Given the description of an element on the screen output the (x, y) to click on. 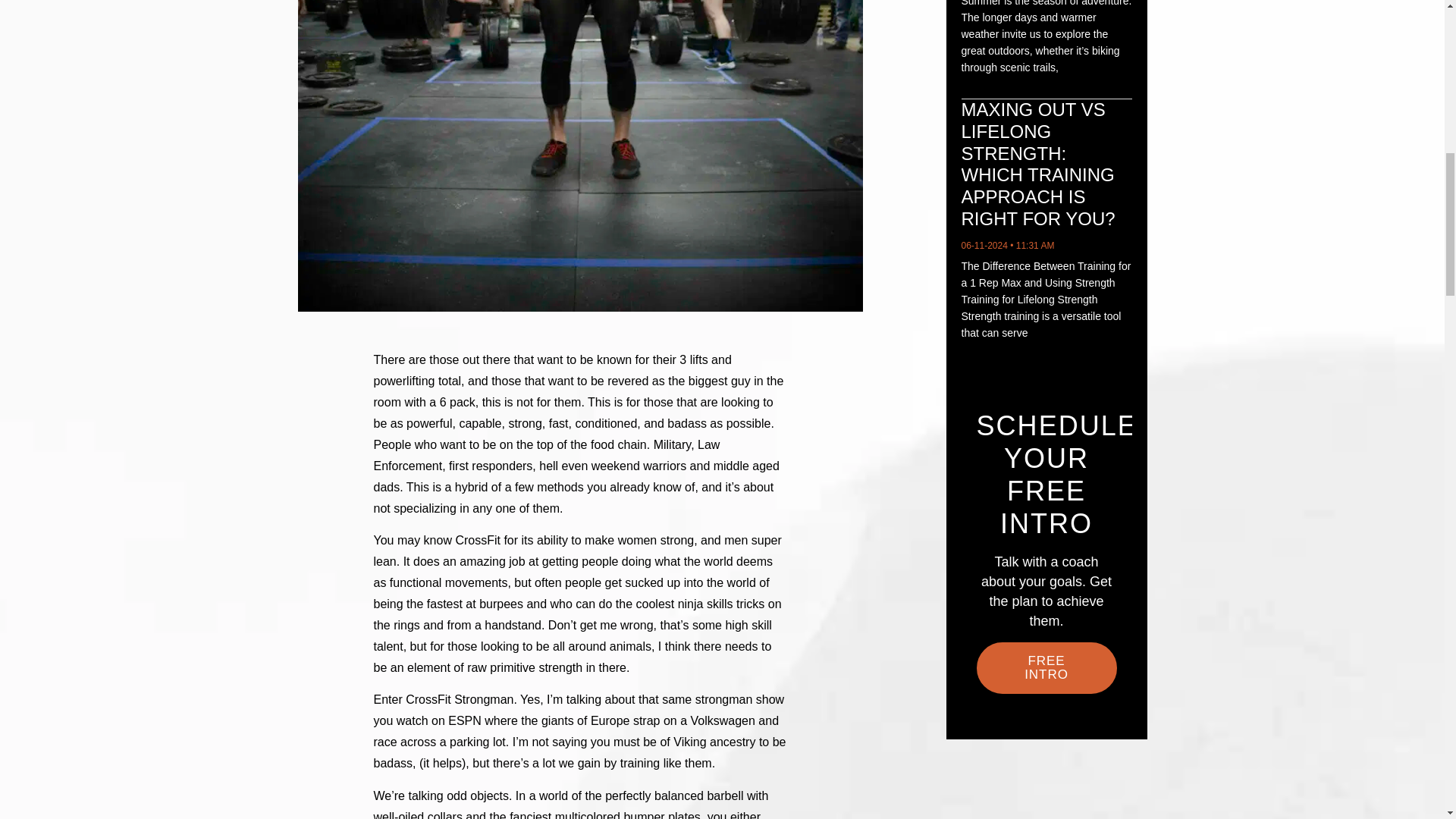
FREE INTRO (1046, 667)
